Given the description of an element on the screen output the (x, y) to click on. 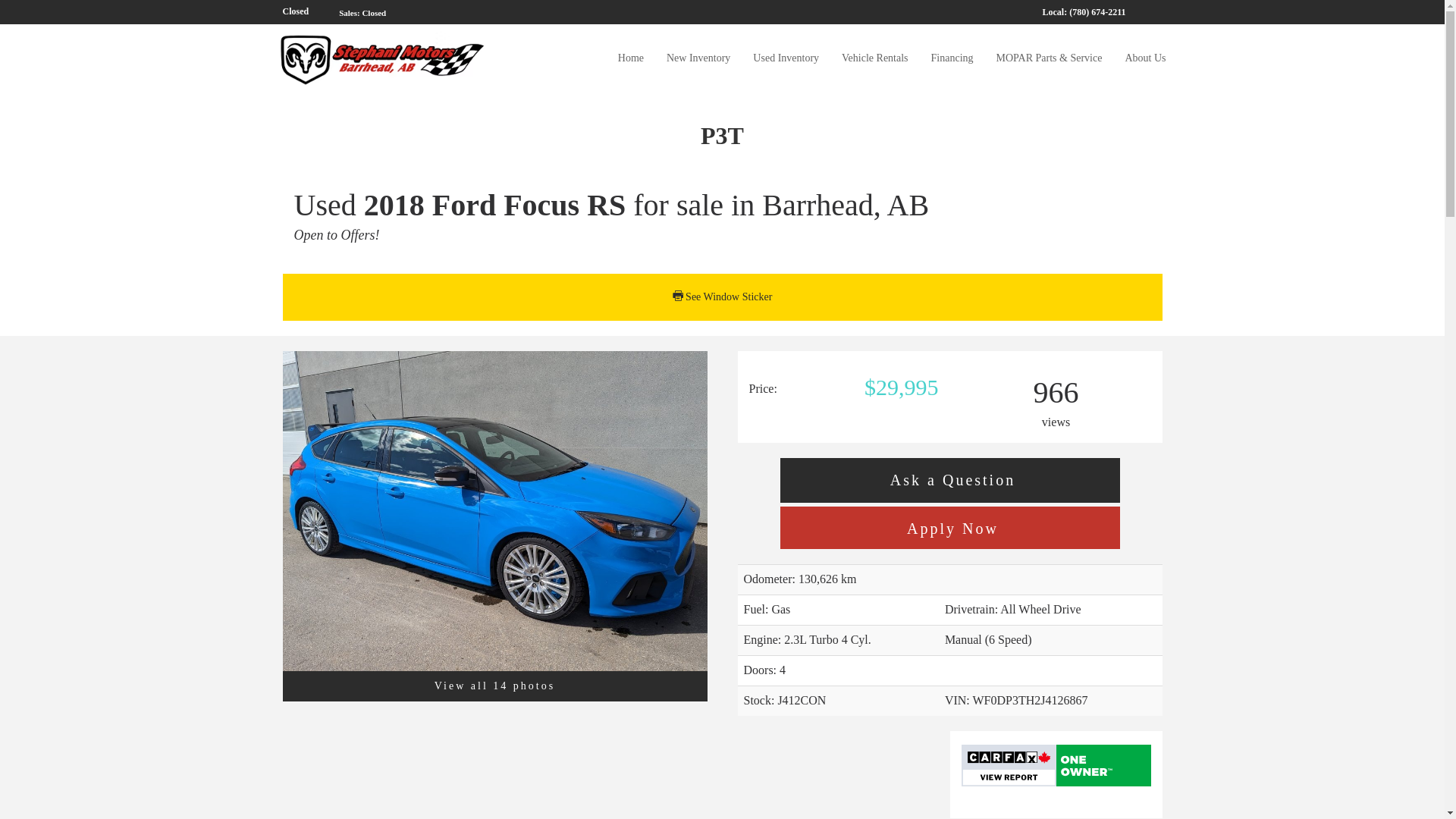
Used Inventory (785, 57)
Financing (952, 57)
See Window Sticker (721, 297)
Vehicle Rentals (873, 57)
View all 14 photos (494, 685)
Apply Now (948, 528)
About Us (1144, 57)
Home (631, 57)
Ask a Question (948, 479)
View the Free CARFAX Report (1055, 763)
New Inventory (698, 57)
View the Free CARFAX Report (1055, 765)
